Given the description of an element on the screen output the (x, y) to click on. 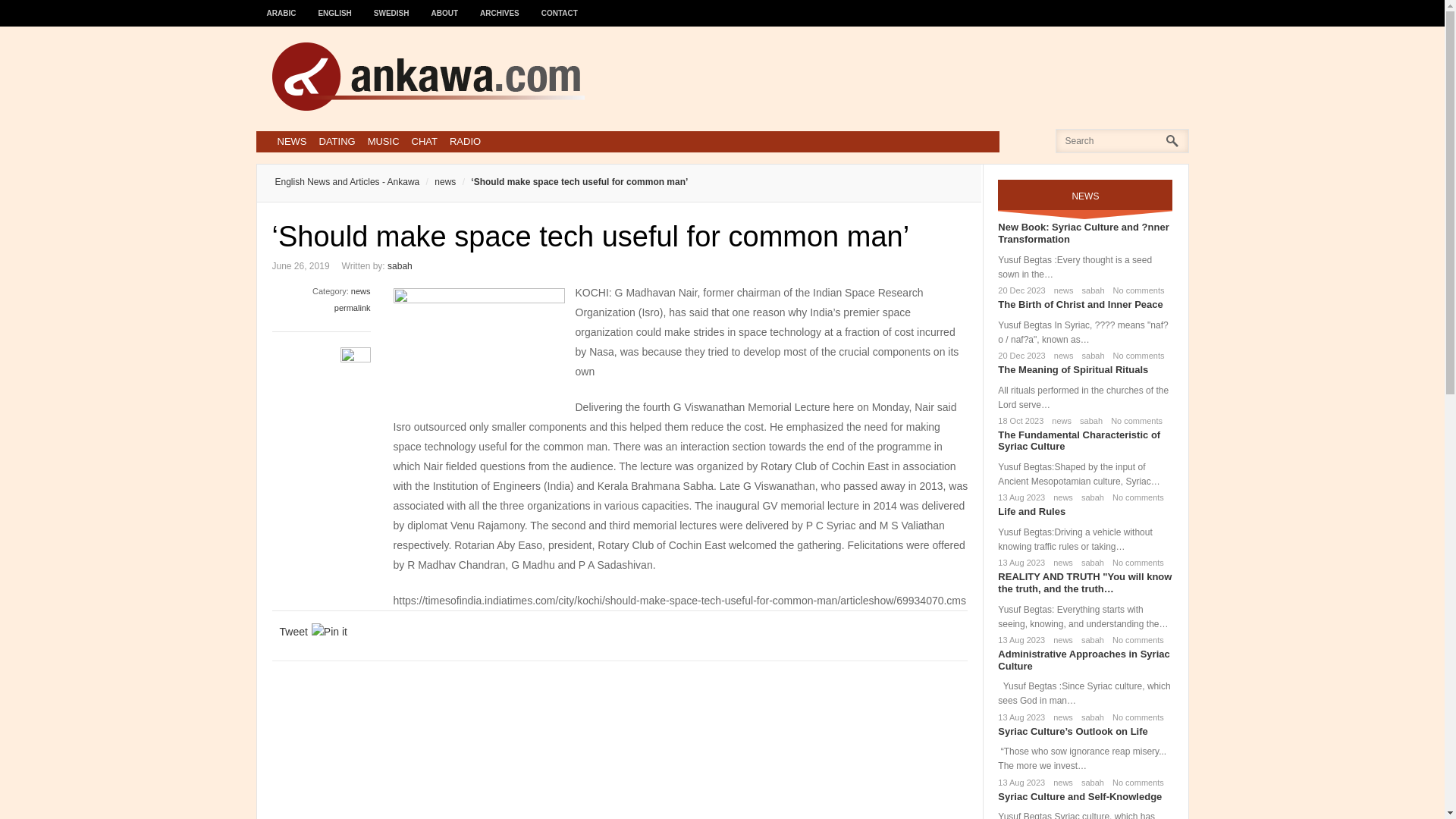
news (1059, 562)
Life and Rules (1031, 511)
English News and Articles - Ankawa (347, 181)
ARCHIVES (499, 5)
Tweet (293, 631)
news (1058, 420)
NEWS (291, 141)
Administrative Approaches in Syriac Culture (1083, 659)
CHAT (425, 141)
No comments (1134, 562)
ABOUT (445, 5)
sabah (1089, 562)
news (1061, 355)
sabah (1088, 420)
The Birth of Christ and Inner Peace (1079, 304)
